Given the description of an element on the screen output the (x, y) to click on. 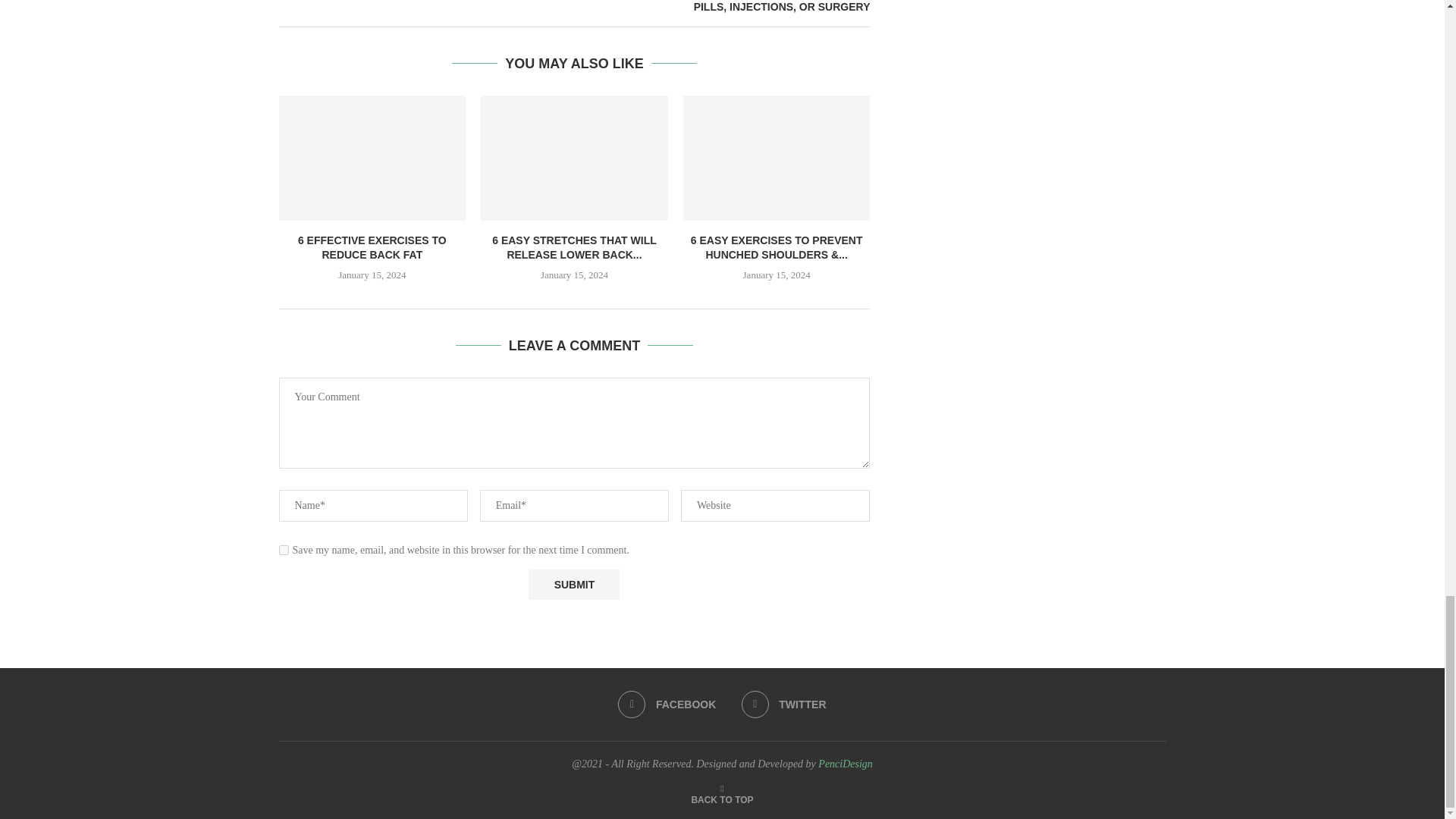
6 EFFECTIVE EXERCISES TO REDUCE BACK FAT (372, 247)
6 EASY STRETCHES THAT WILL RELEASE LOWER BACK... (574, 247)
6 Effective Exercises To Reduce Back Fat (372, 157)
yes (283, 550)
Submit (574, 584)
